Given the description of an element on the screen output the (x, y) to click on. 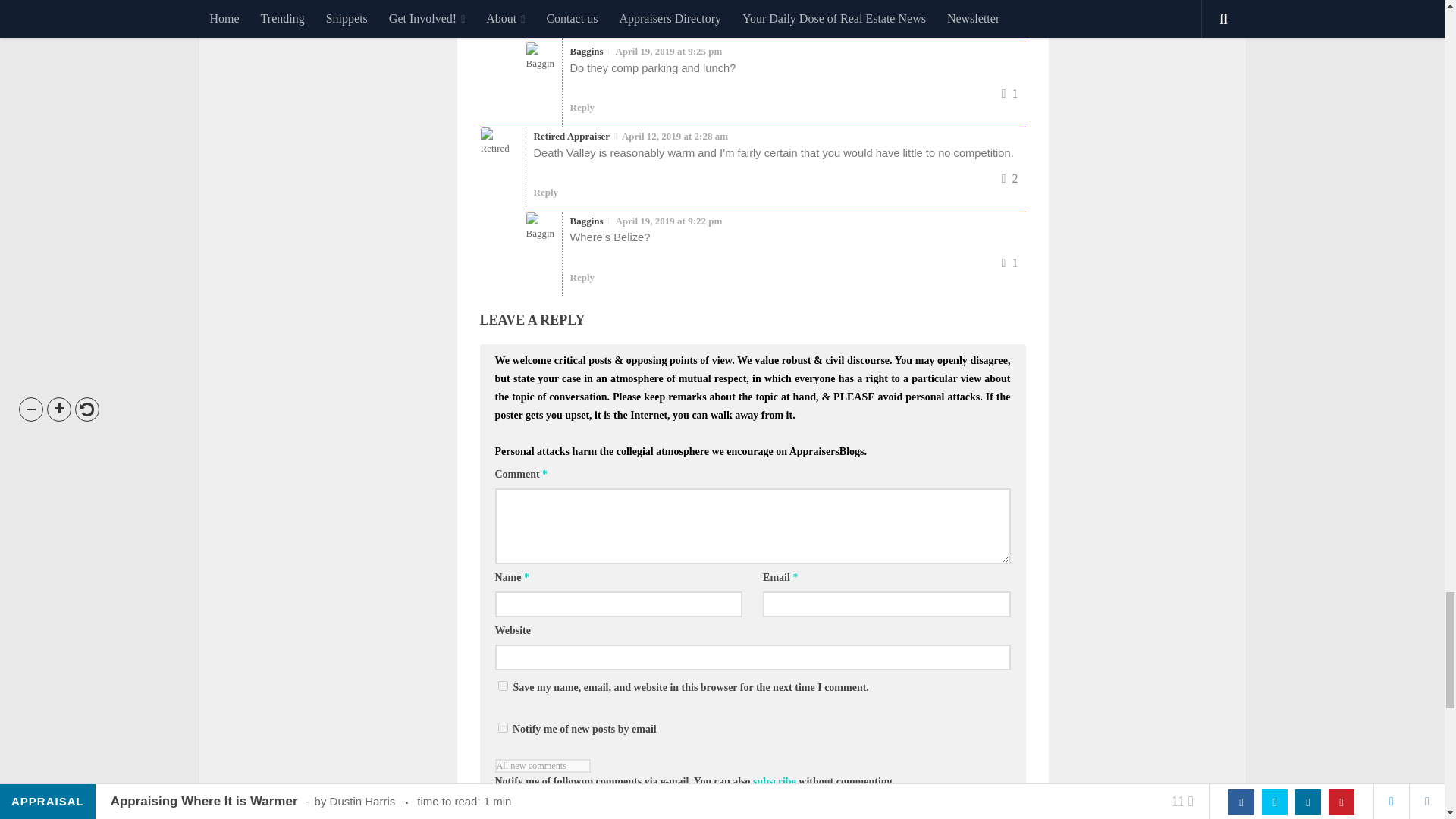
Post Comment (535, 811)
yes (501, 685)
1 (501, 727)
